Given the description of an element on the screen output the (x, y) to click on. 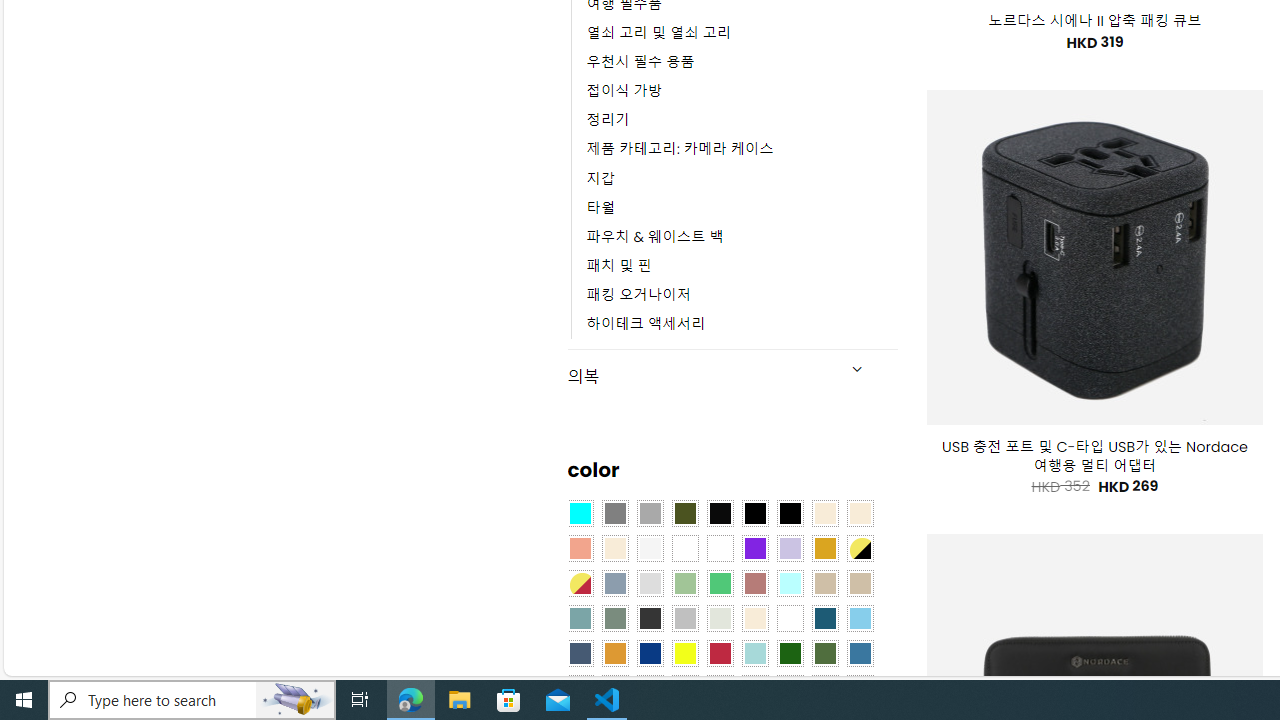
Purple (755, 548)
